Given the description of an element on the screen output the (x, y) to click on. 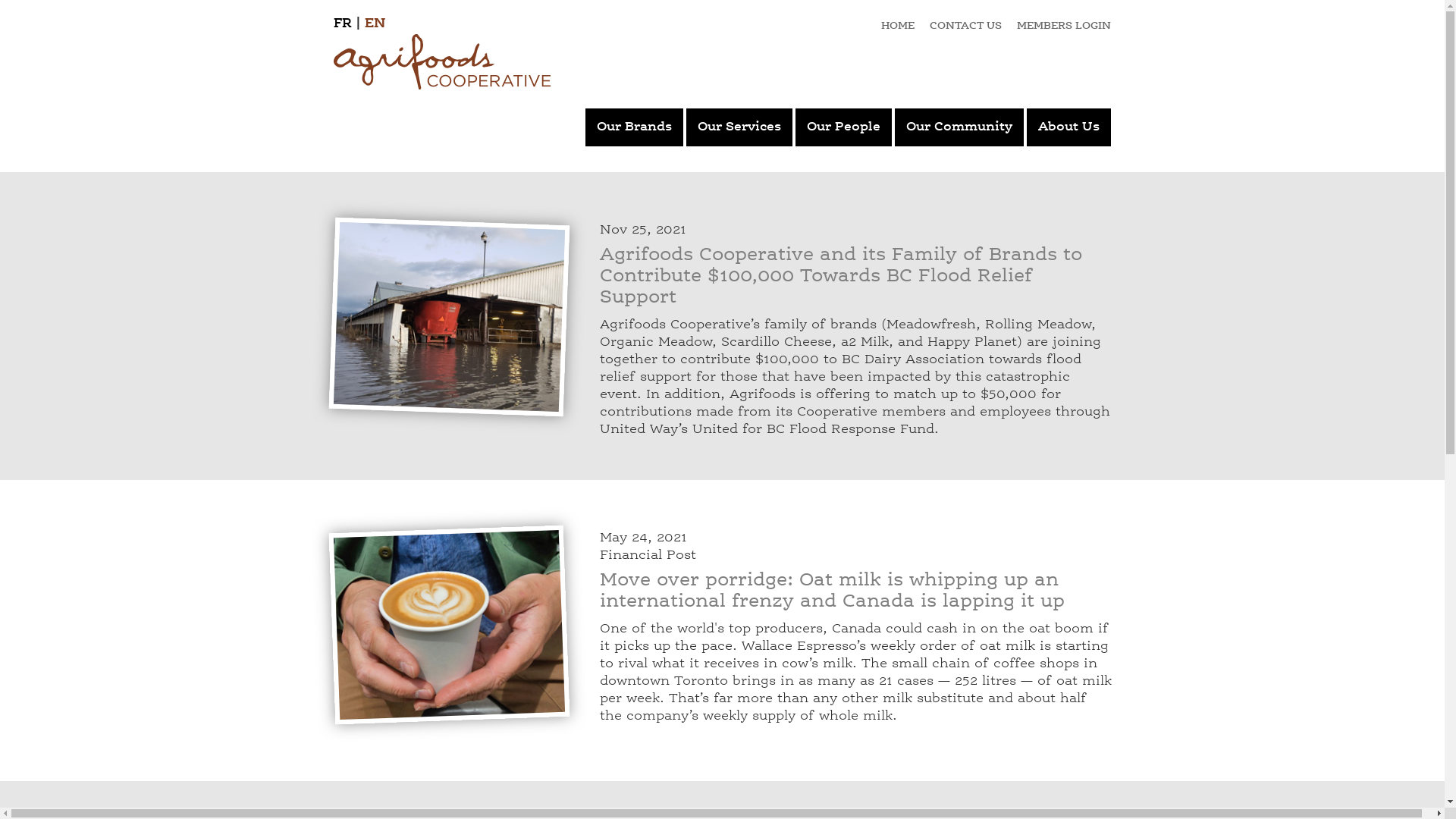
FR Element type: text (342, 23)
Our Services Element type: text (739, 127)
Our Community Element type: text (958, 127)
About Us Element type: text (1068, 127)
HOME Element type: text (897, 25)
MEMBERS LOGIN Element type: text (1063, 25)
Our People Element type: text (843, 127)
CONTACT US Element type: text (965, 25)
Our Brands Element type: text (634, 127)
